Given the description of an element on the screen output the (x, y) to click on. 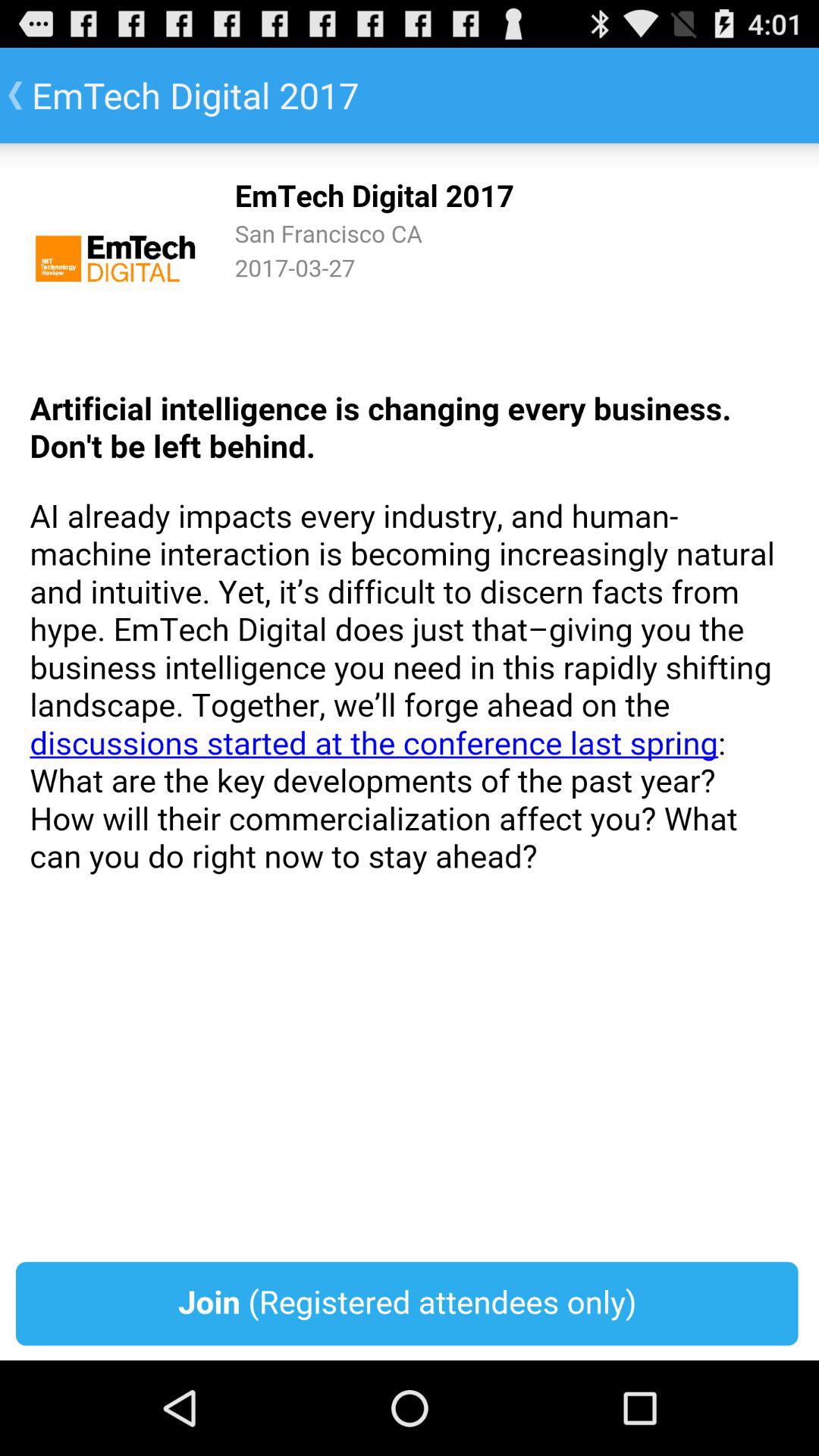
register to website (409, 751)
